Given the description of an element on the screen output the (x, y) to click on. 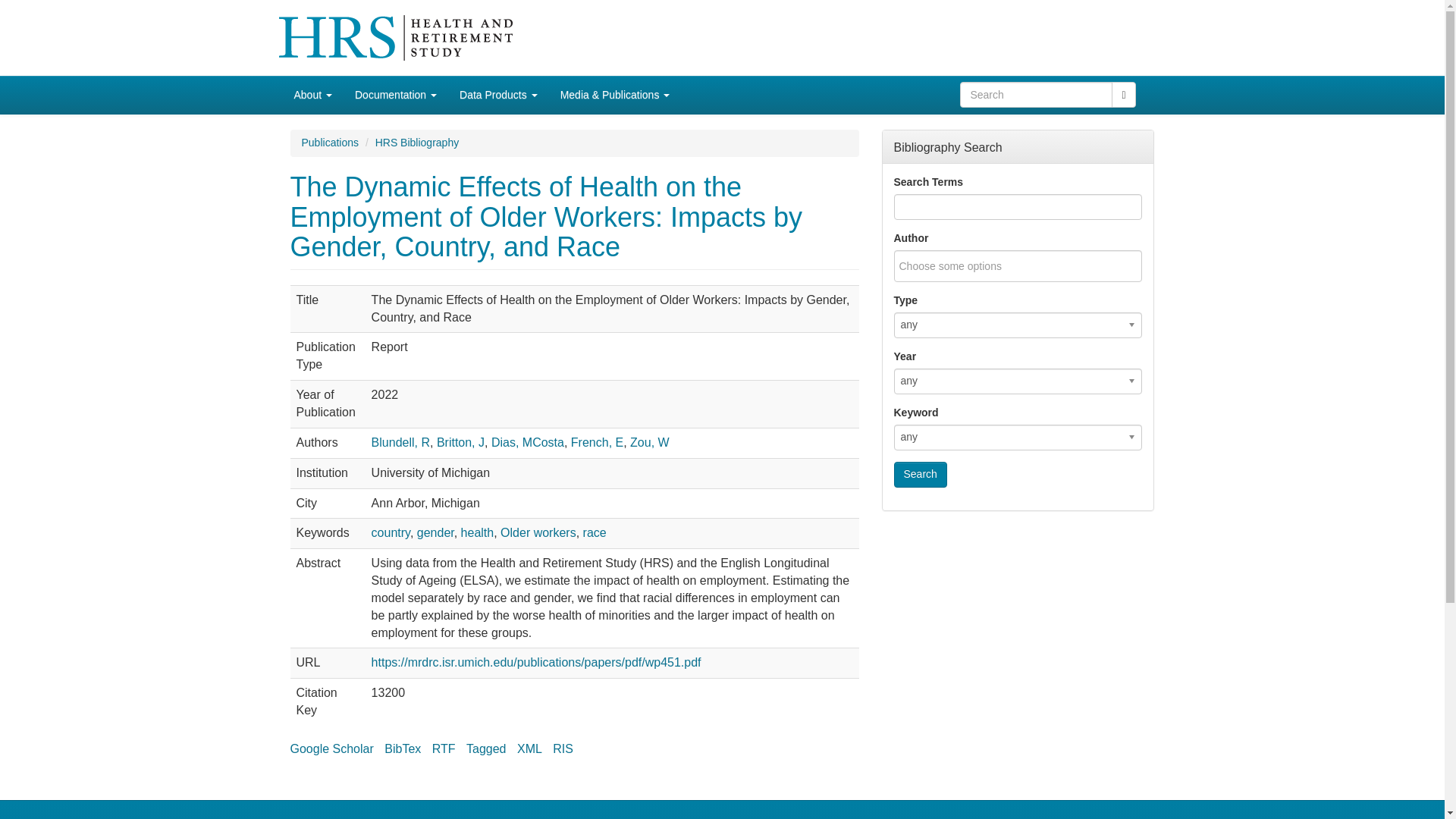
Choose some options (959, 266)
About (312, 94)
Data Products (498, 94)
Documentation (395, 94)
